Given the description of an element on the screen output the (x, y) to click on. 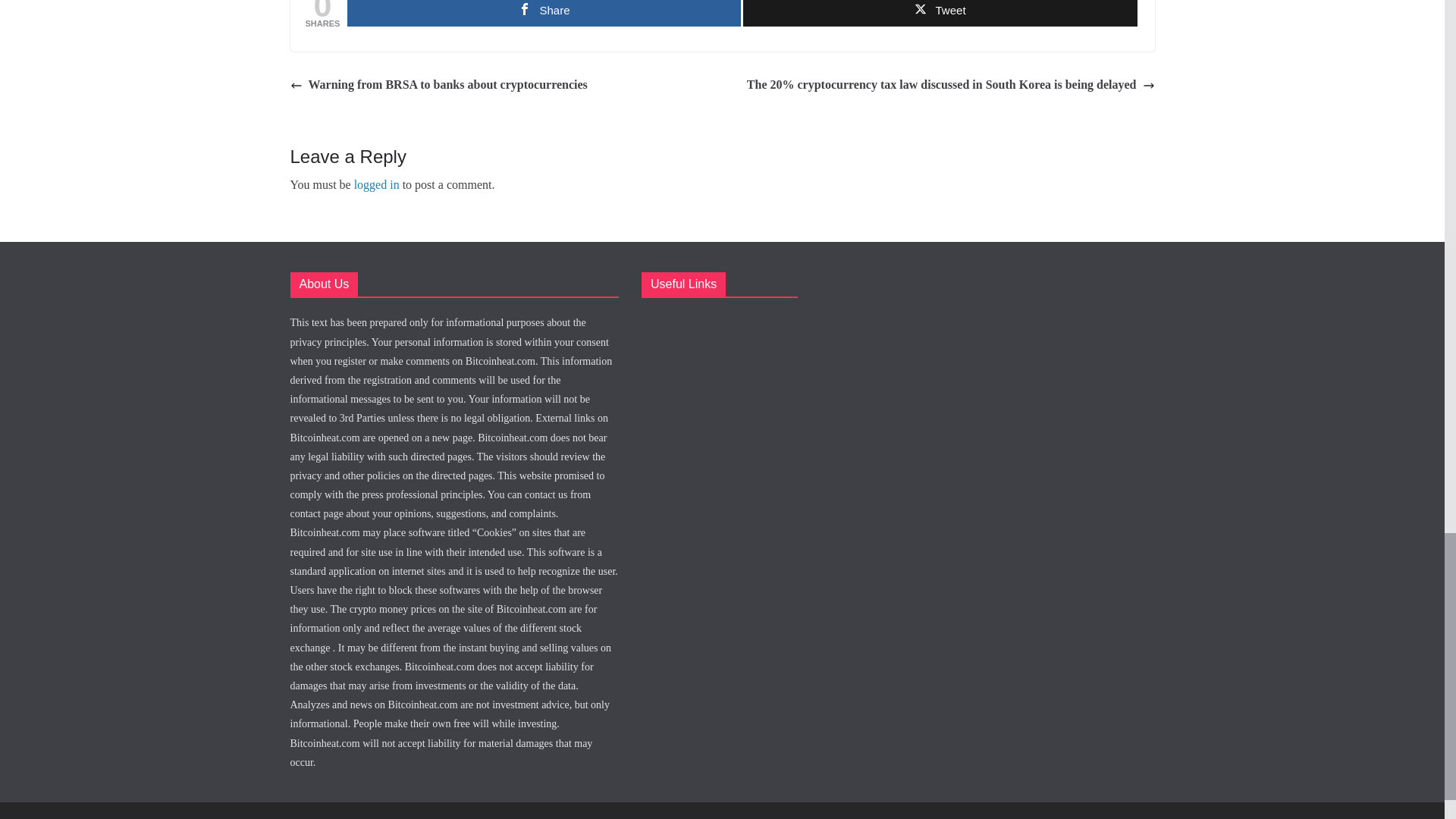
logged in (375, 184)
Share (544, 13)
Tweet (939, 13)
Warning from BRSA to banks about cryptocurrencies (437, 85)
